Given the description of an element on the screen output the (x, y) to click on. 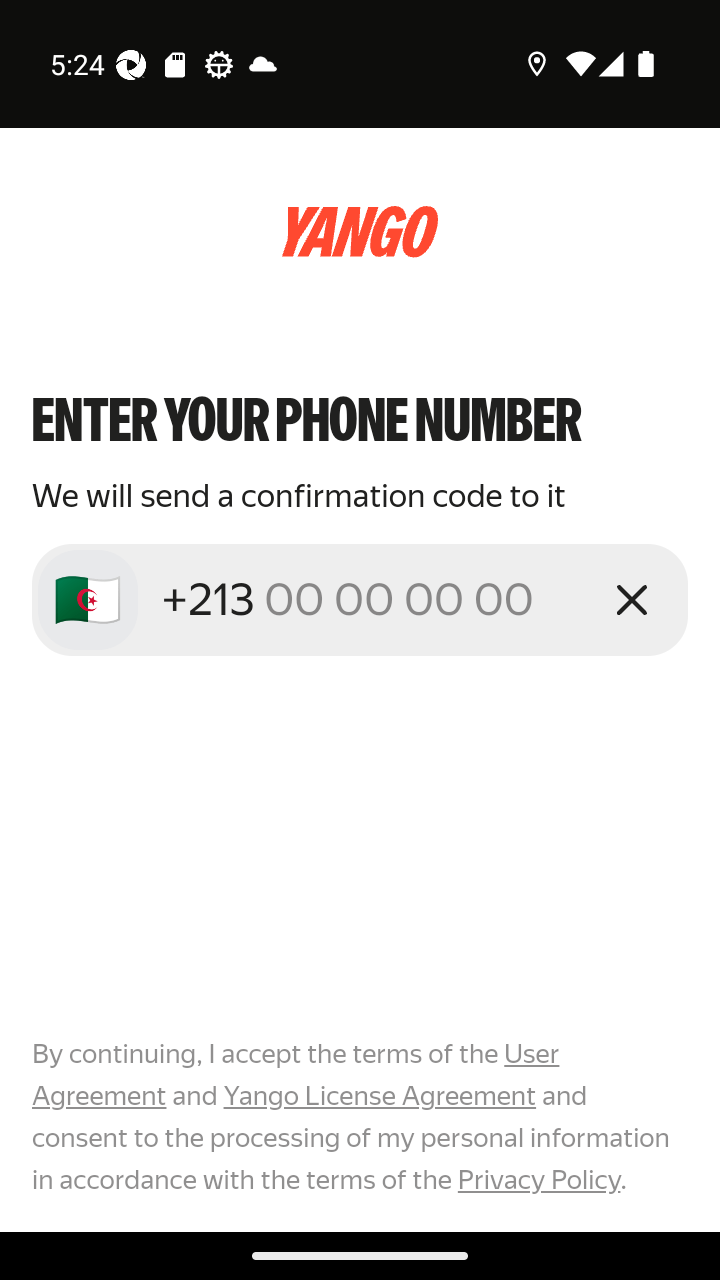
logo (359, 231)
🇩🇿 (88, 600)
+213 (372, 599)
User Agreement (295, 1075)
Yango License Agreement (379, 1096)
Privacy Policy (538, 1179)
